Given the description of an element on the screen output the (x, y) to click on. 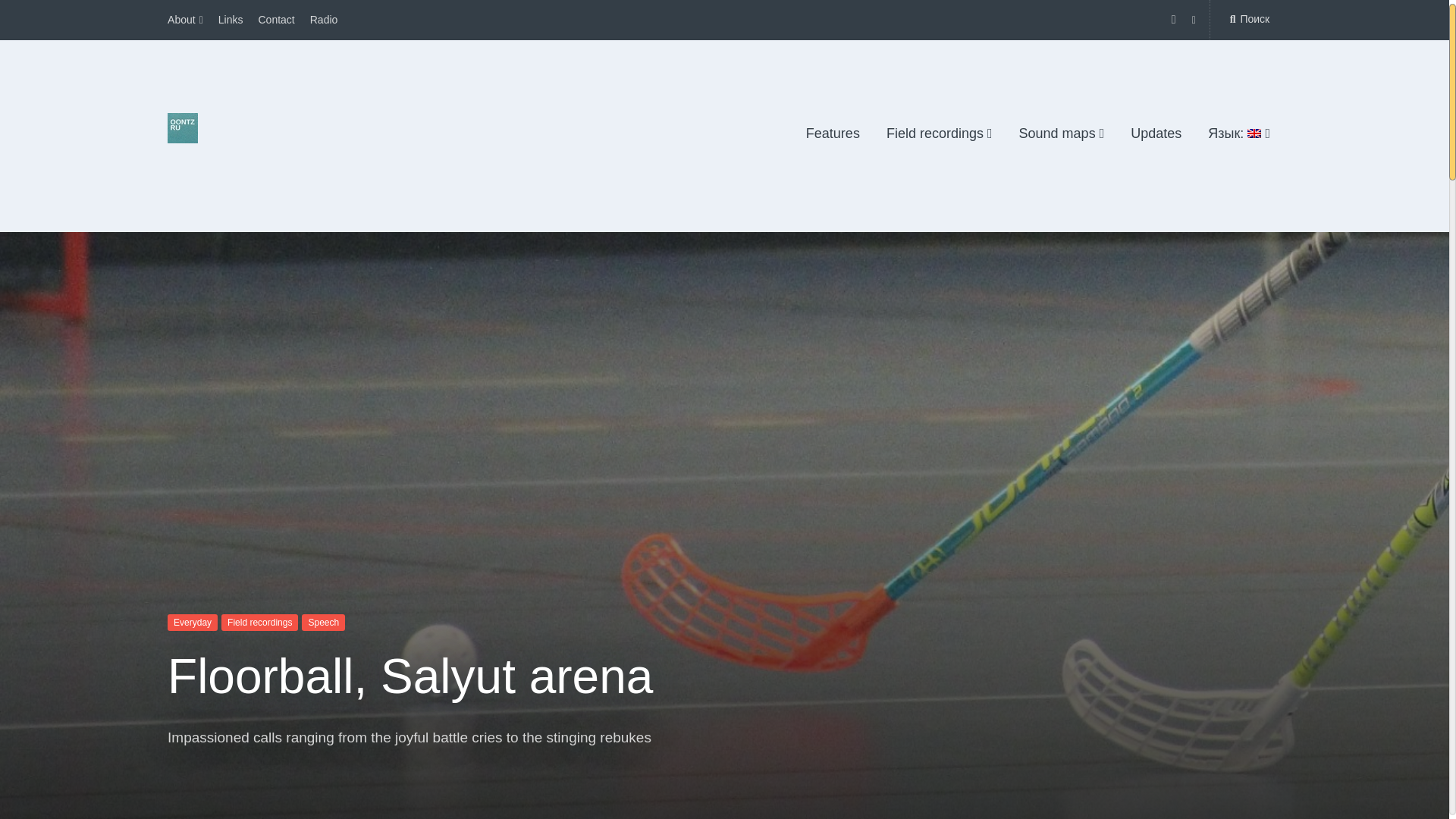
Links (230, 19)
Contact (275, 19)
About (185, 20)
Radio (323, 19)
